Given the description of an element on the screen output the (x, y) to click on. 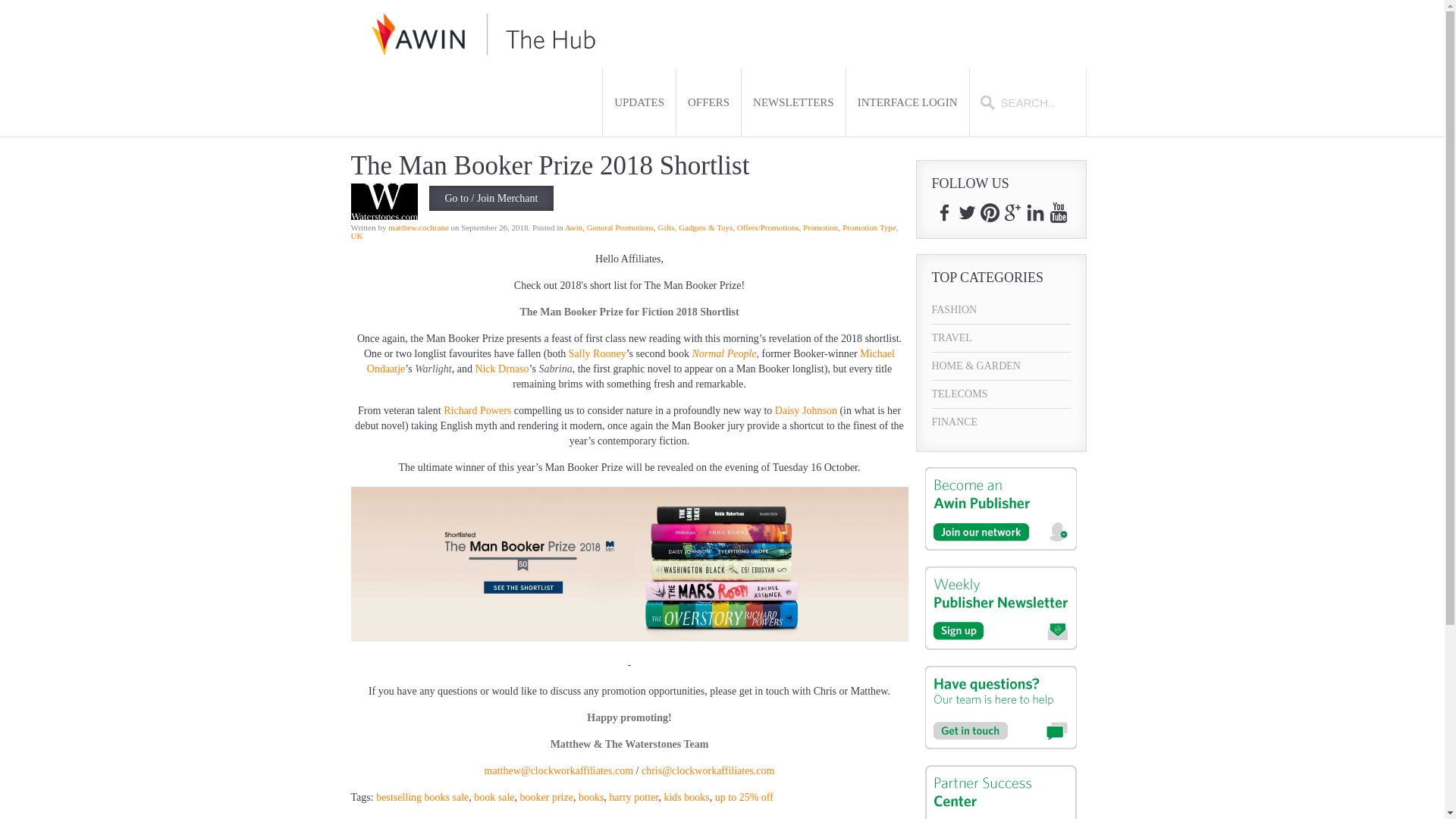
Awin (573, 226)
Michael Ondaatje (630, 361)
harry potter (633, 797)
INTERFACE LOGIN (907, 102)
Reset (3, 2)
kids books (686, 797)
General Promotions (619, 226)
booker prize (546, 797)
Daisy Johnson (805, 410)
OFFERS (708, 102)
